Given the description of an element on the screen output the (x, y) to click on. 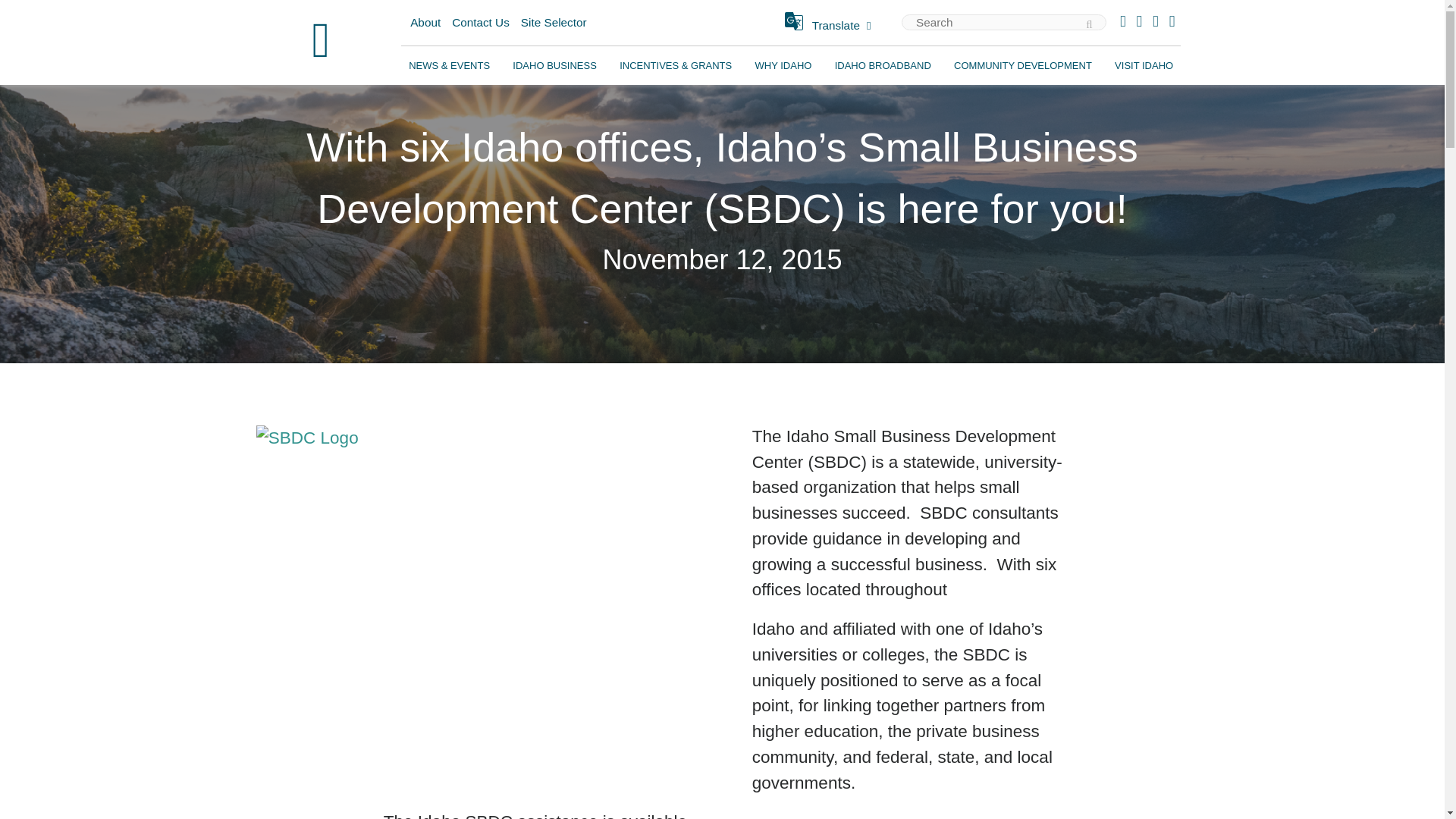
Home (320, 42)
